Given the description of an element on the screen output the (x, y) to click on. 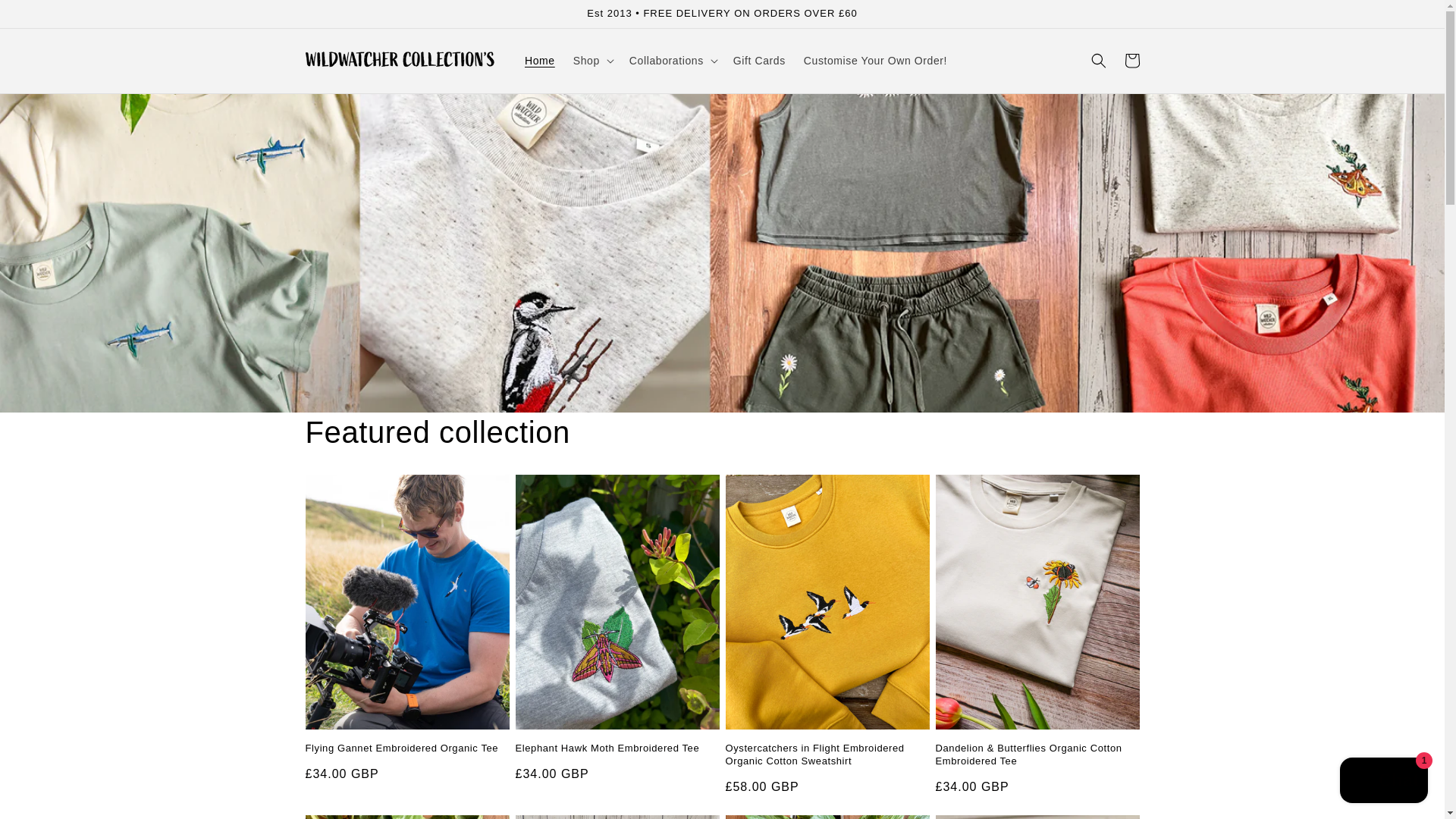
Elephant Hawk Moth Embroidered Tee (617, 748)
Skip to content (45, 17)
Home (539, 60)
Gift Cards (758, 60)
Flying Gannet Embroidered Organic Tee (406, 748)
Cart (1131, 60)
Customise Your Own Order! (875, 60)
Shopify online store chat (1383, 781)
